Given the description of an element on the screen output the (x, y) to click on. 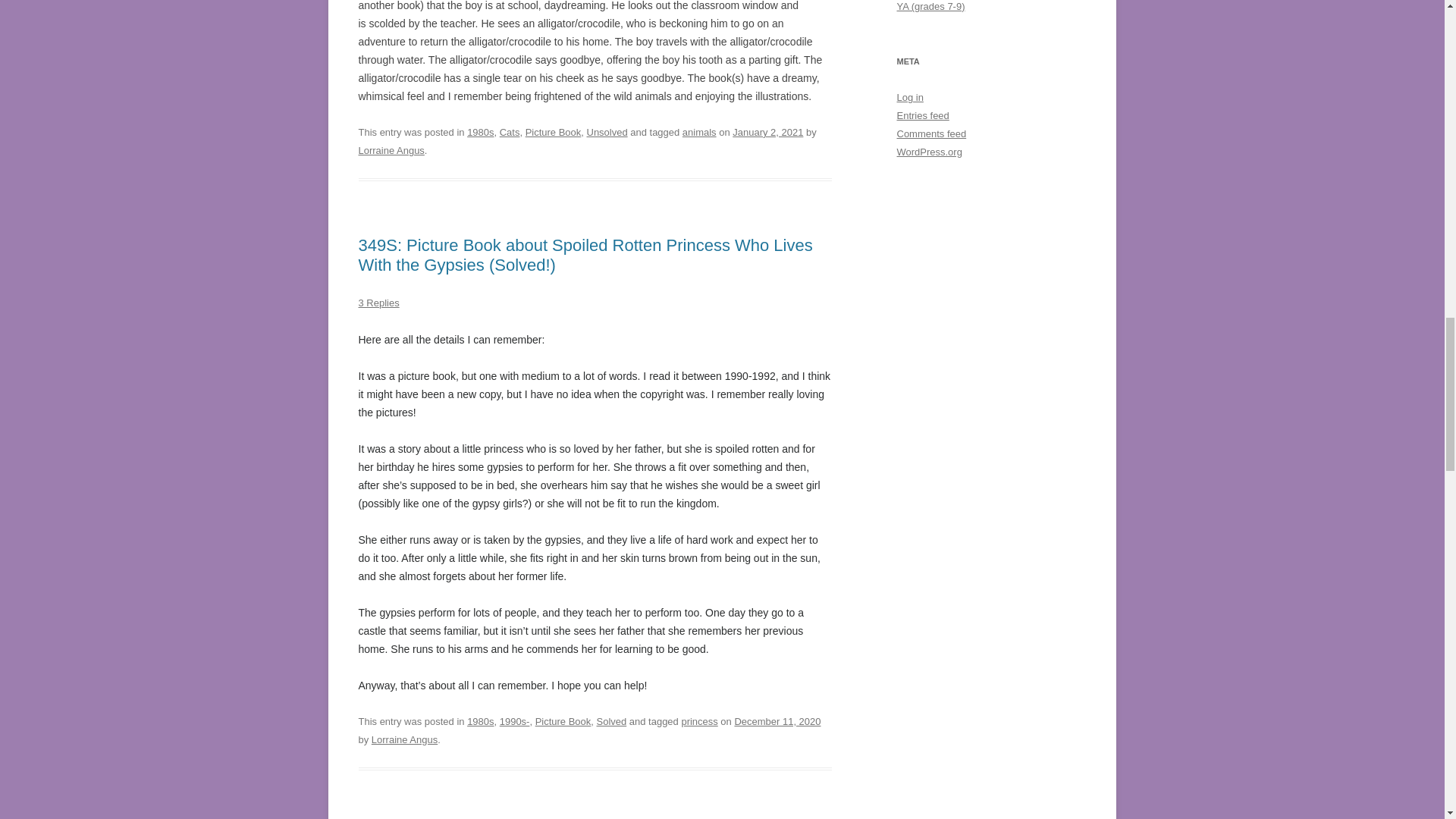
View all posts by Lorraine Angus (404, 739)
Picture Book (552, 132)
12:27 pm (767, 132)
Unsolved (606, 132)
animals (699, 132)
January 2, 2021 (767, 132)
Lorraine Angus (390, 150)
Cats (509, 132)
View all posts by Lorraine Angus (390, 150)
1980s (480, 132)
5:47 pm (777, 721)
